Given the description of an element on the screen output the (x, y) to click on. 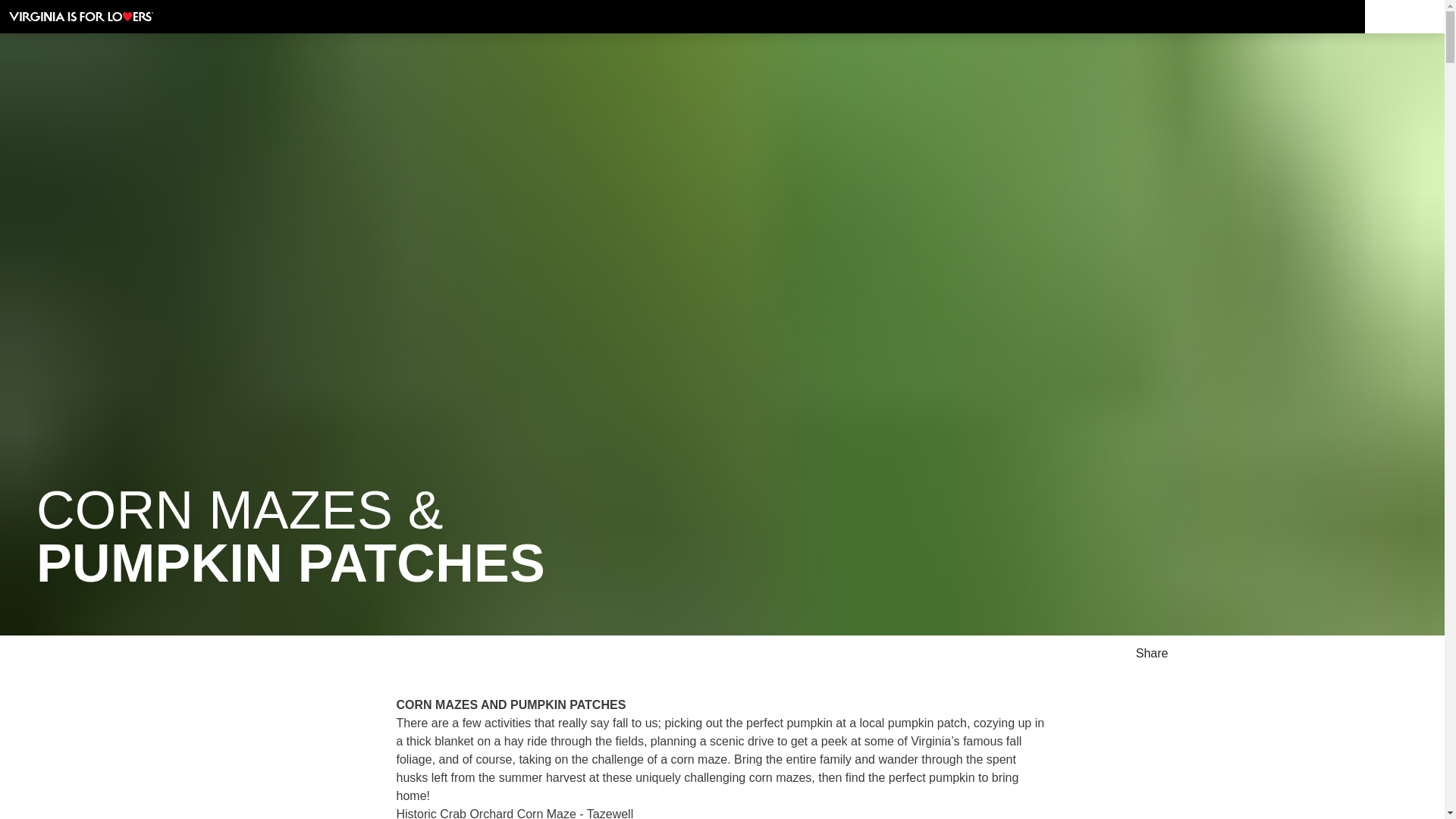
Menu (1403, 16)
